Given the description of an element on the screen output the (x, y) to click on. 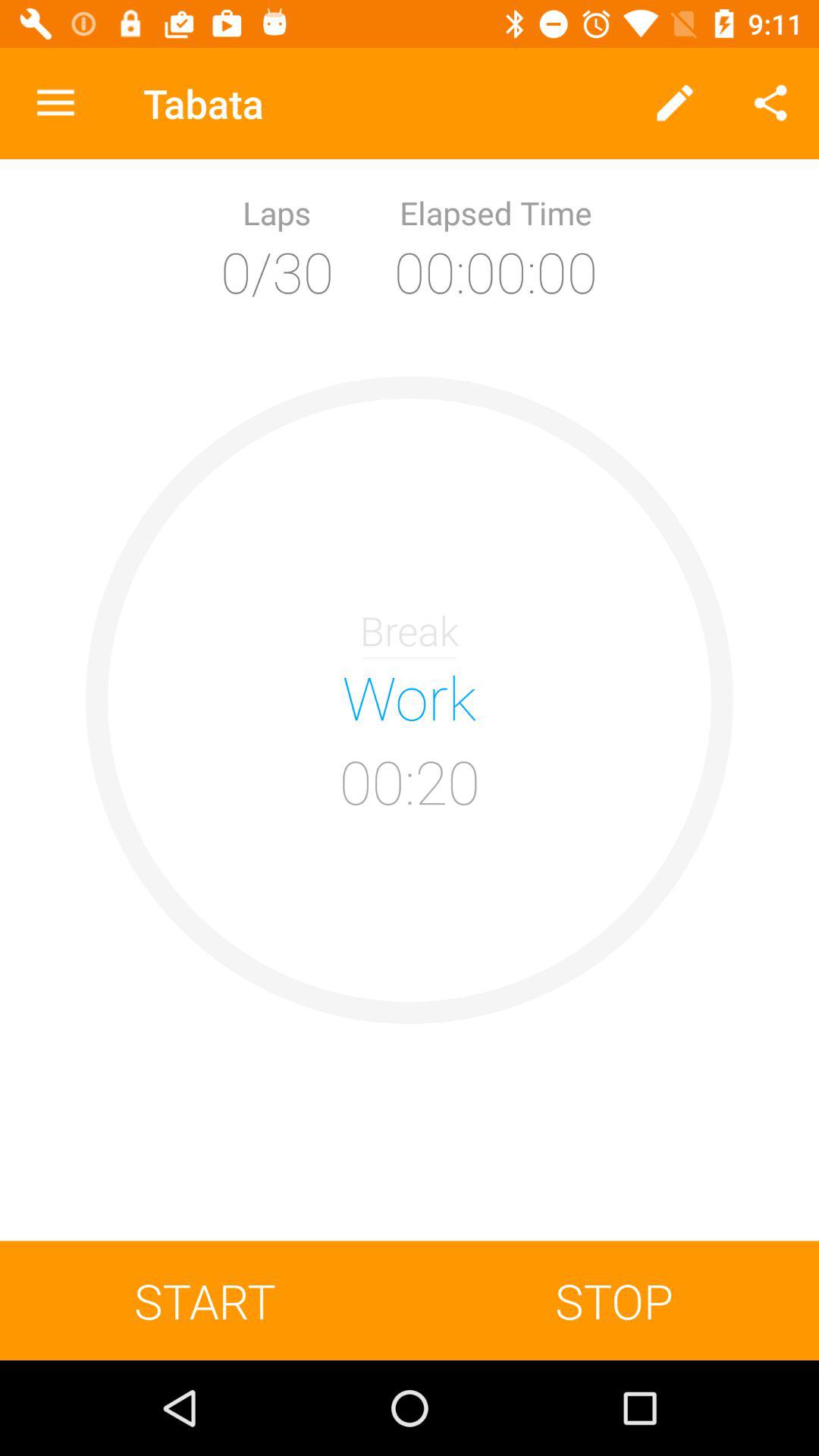
scroll until the start (204, 1300)
